Given the description of an element on the screen output the (x, y) to click on. 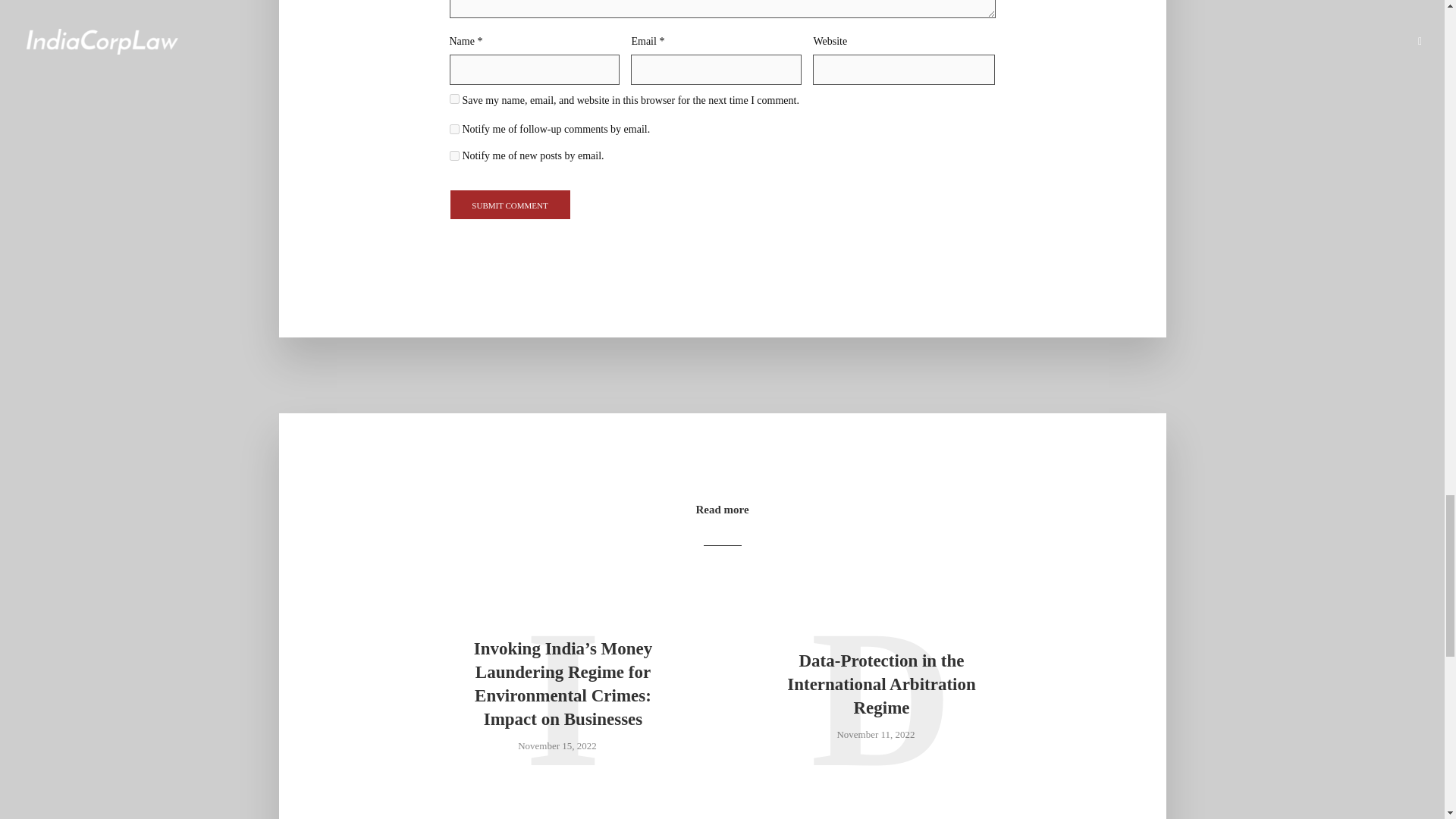
Data-Protection in the International Arbitration Regime (881, 684)
subscribe (453, 155)
yes (453, 99)
Submit Comment (509, 204)
Submit Comment (509, 204)
subscribe (453, 129)
